Given the description of an element on the screen output the (x, y) to click on. 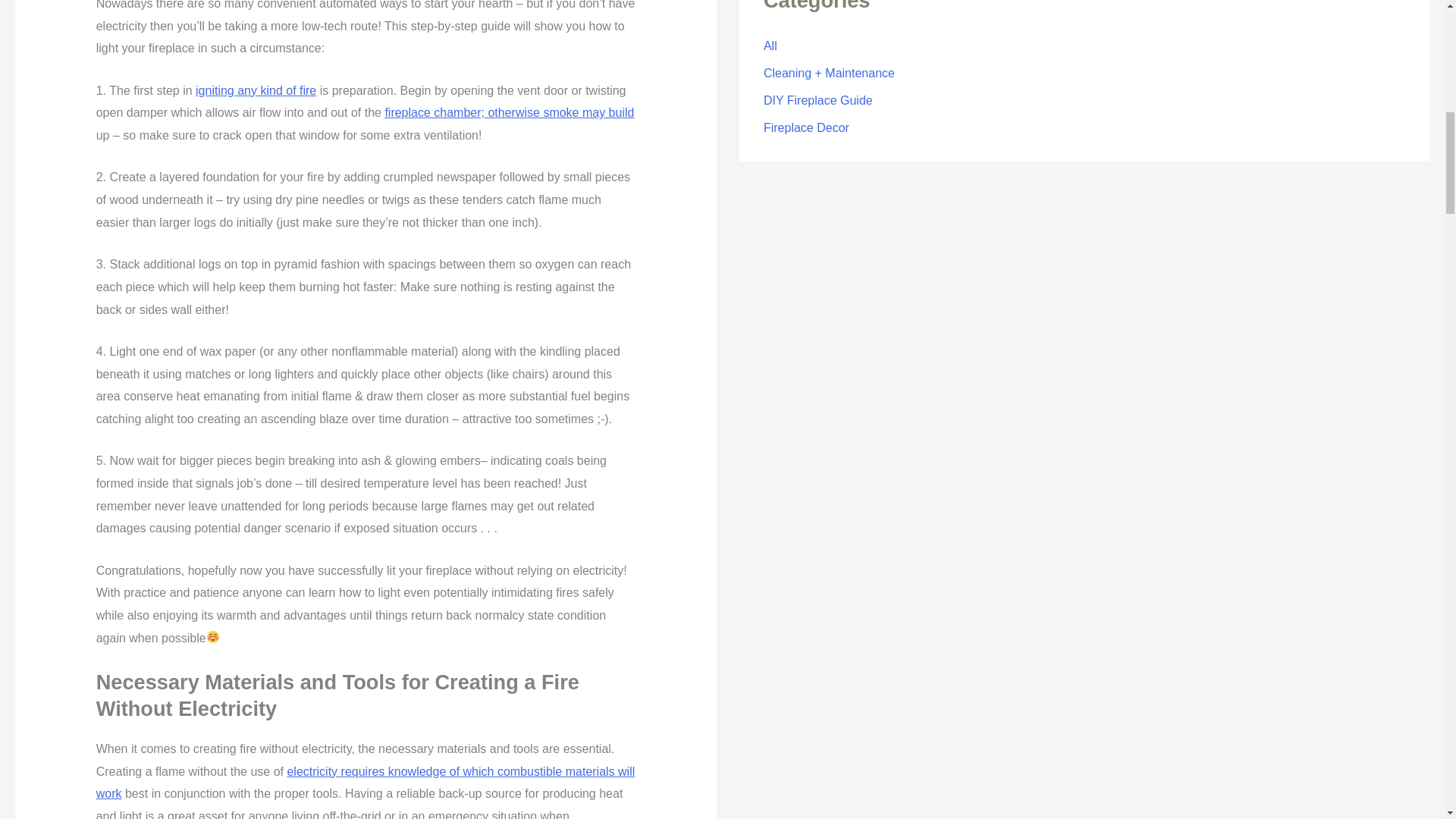
fireplace chamber; otherwise smoke may build (508, 112)
igniting any kind of fire (255, 90)
